Given the description of an element on the screen output the (x, y) to click on. 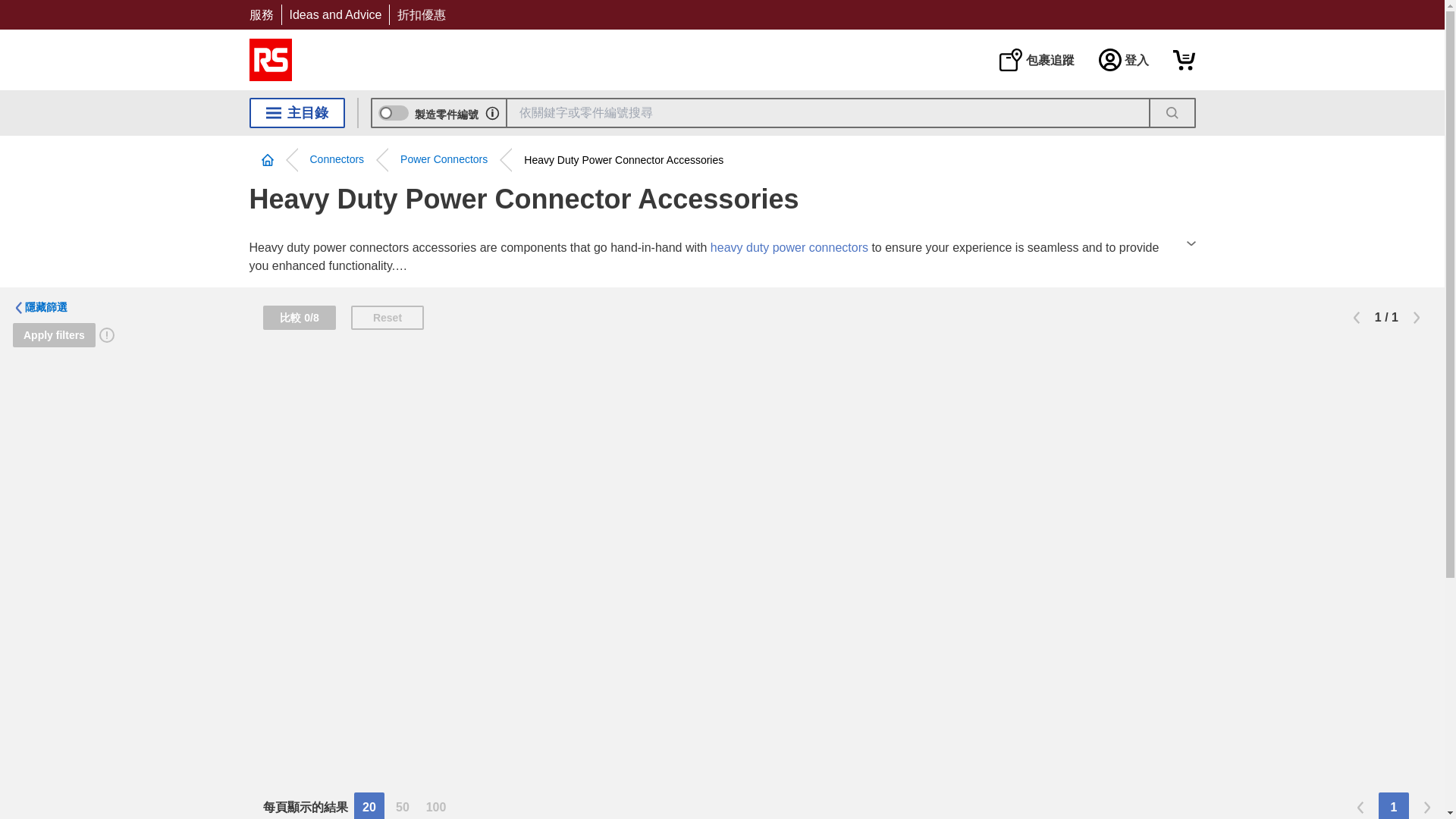
Ideas and Advice (335, 14)
